Given the description of an element on the screen output the (x, y) to click on. 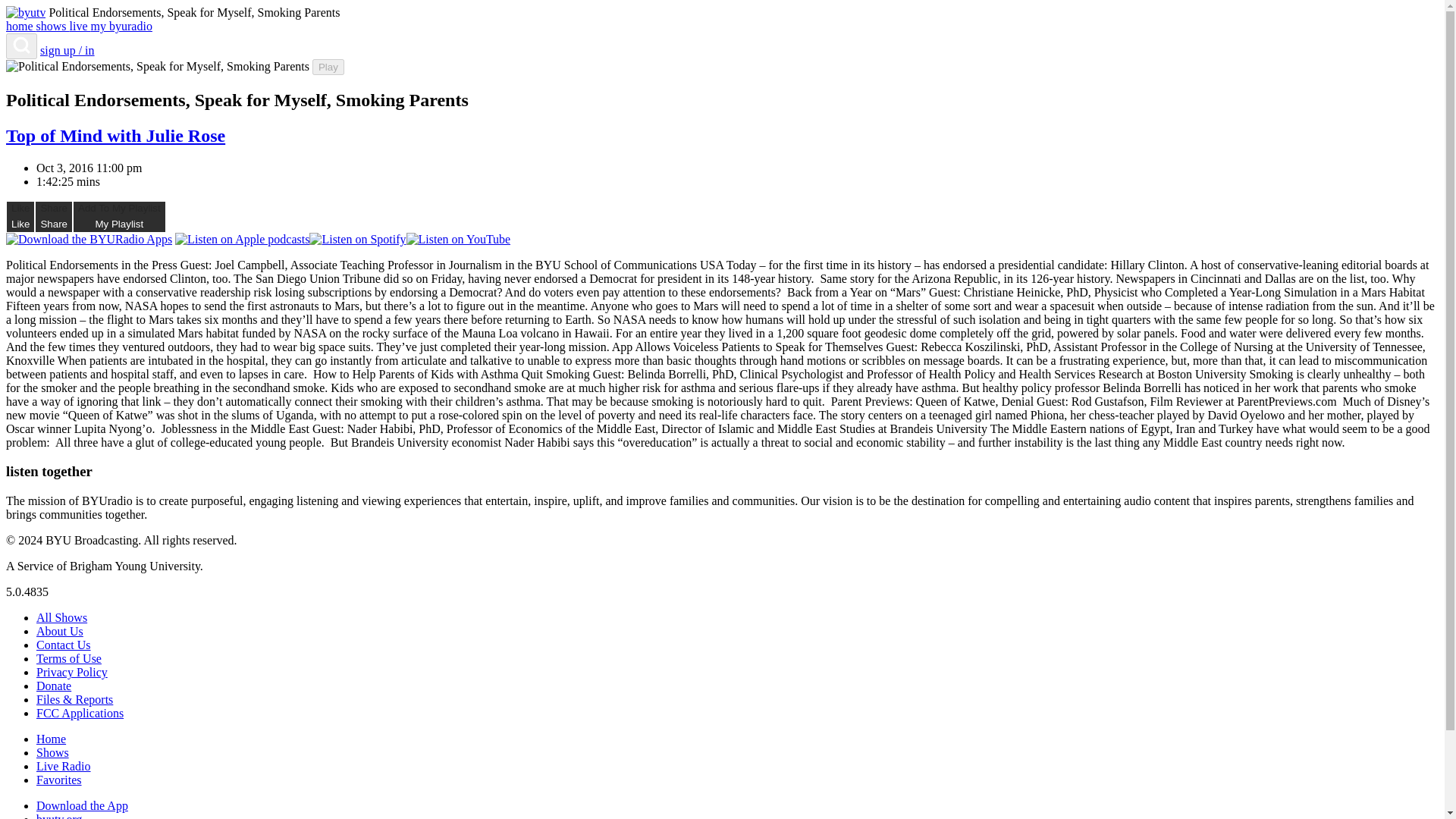
Donate (53, 685)
Shows (52, 752)
Live Radio (63, 766)
All Shows (61, 617)
Privacy Policy (71, 671)
byutv.org (58, 816)
Download the BYURadio Apps (88, 239)
home (20, 25)
Home (50, 738)
shows (52, 25)
